Given the description of an element on the screen output the (x, y) to click on. 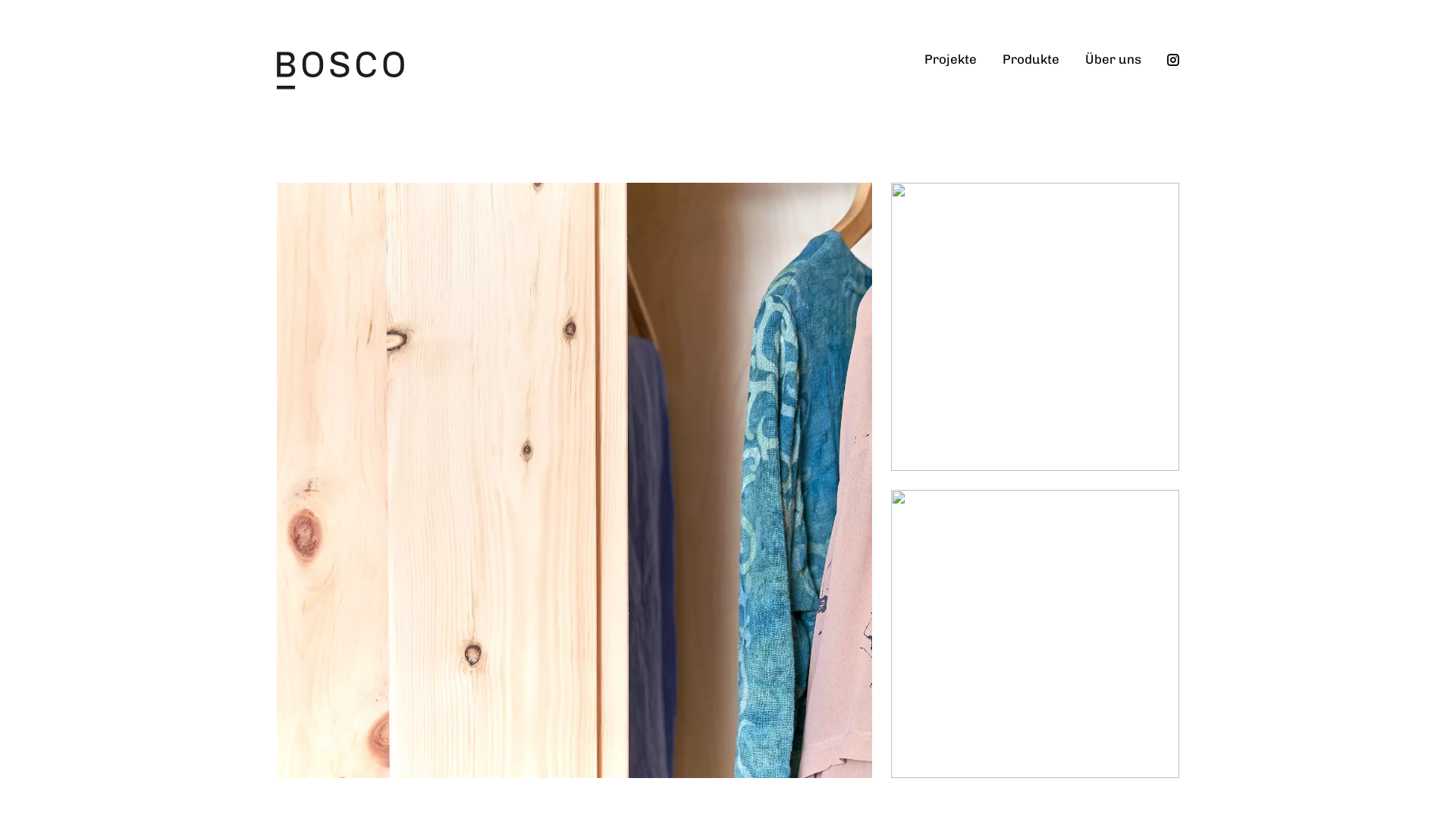
Produkte Element type: text (1030, 71)
Projekte Element type: text (950, 71)
